Given the description of an element on the screen output the (x, y) to click on. 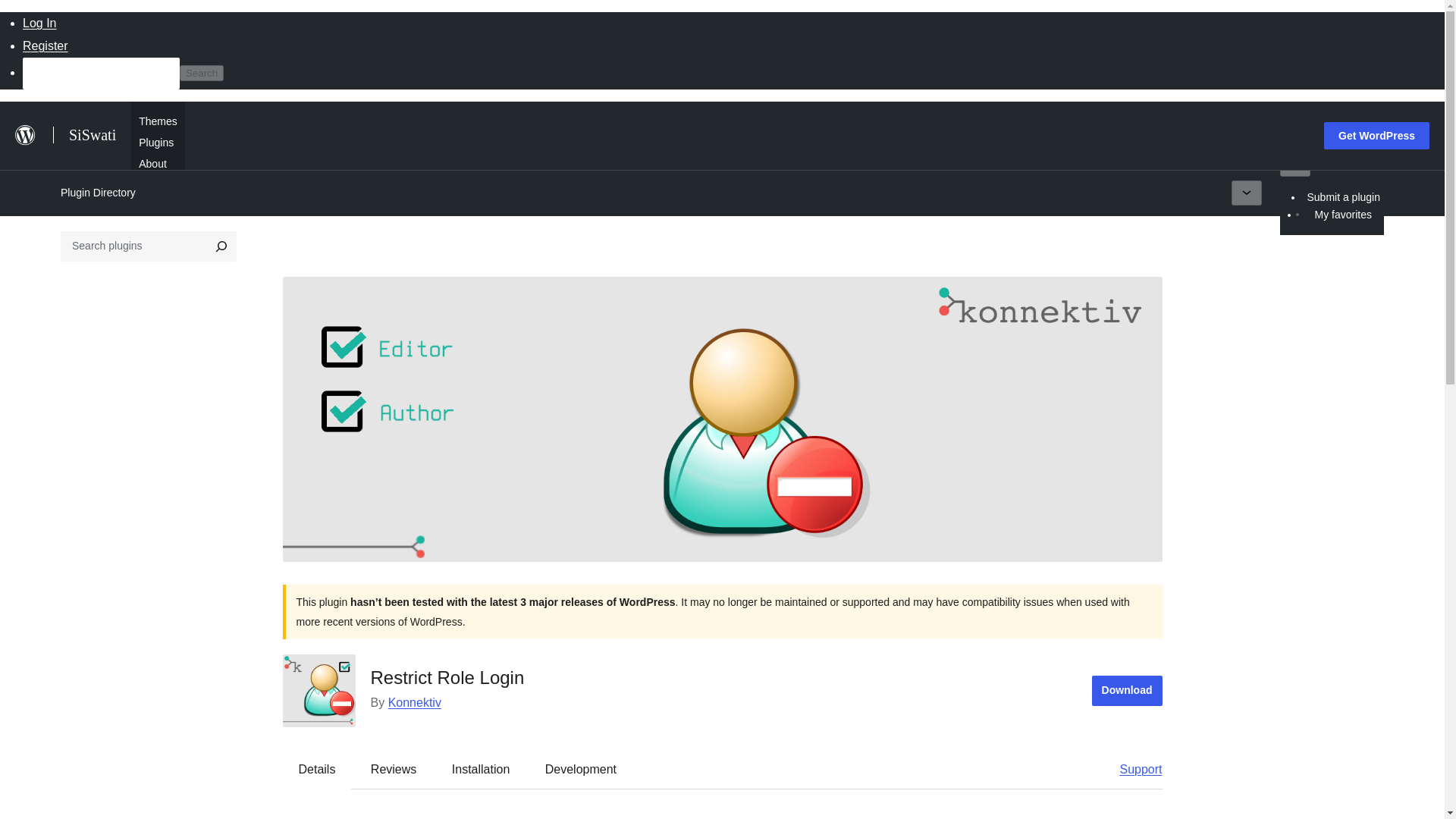
Installation (480, 769)
Download (1126, 690)
Search (201, 73)
Register (45, 45)
Log In (39, 22)
Search (201, 73)
Get WordPress (1376, 135)
Details (316, 769)
Support (1132, 769)
My favorites (1342, 214)
Reviews (392, 769)
Konnektiv (414, 702)
Plugin Directory (97, 192)
Submit a plugin (1343, 196)
Development (580, 769)
